Given the description of an element on the screen output the (x, y) to click on. 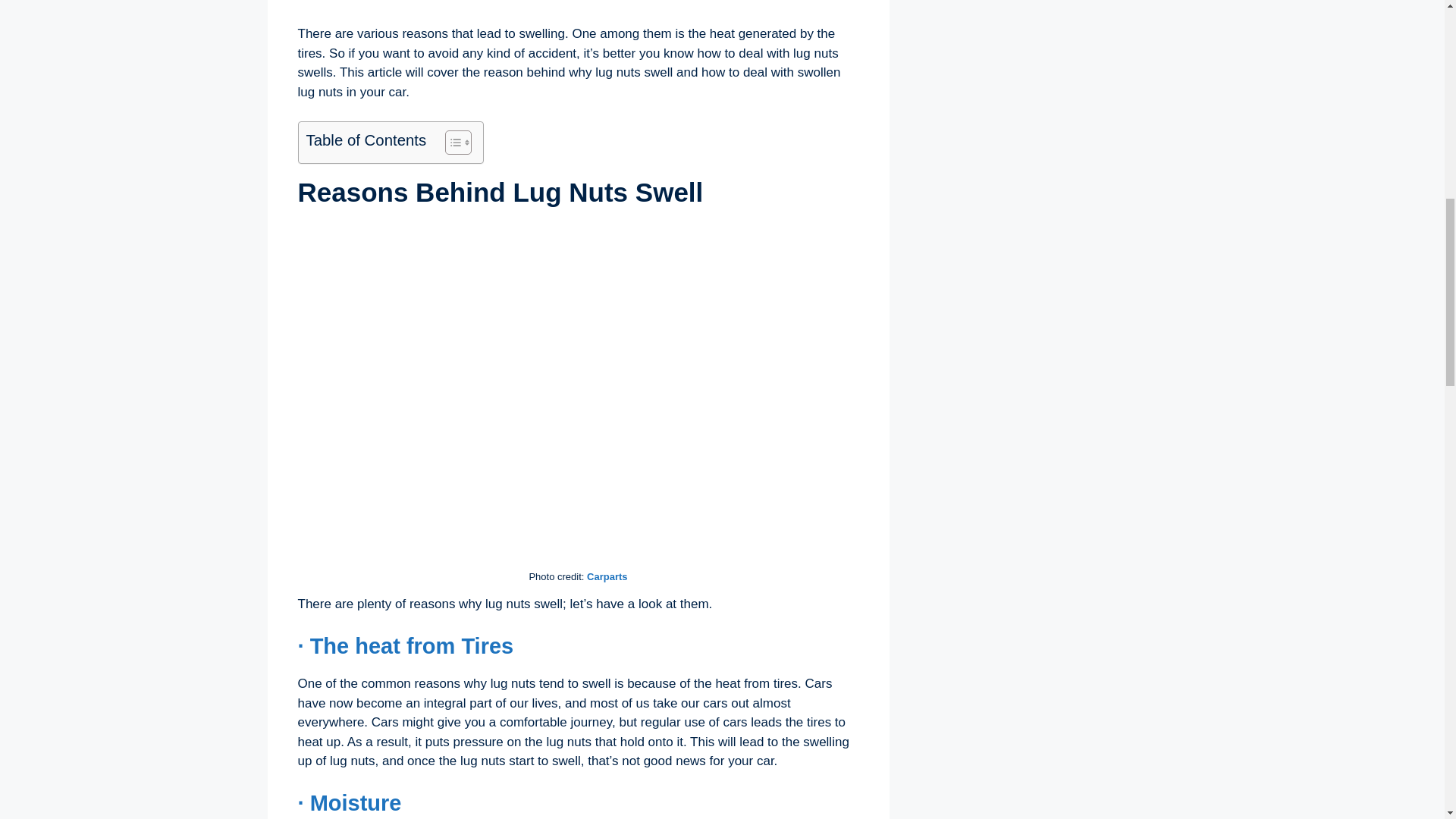
Carparts (606, 576)
